Given the description of an element on the screen output the (x, y) to click on. 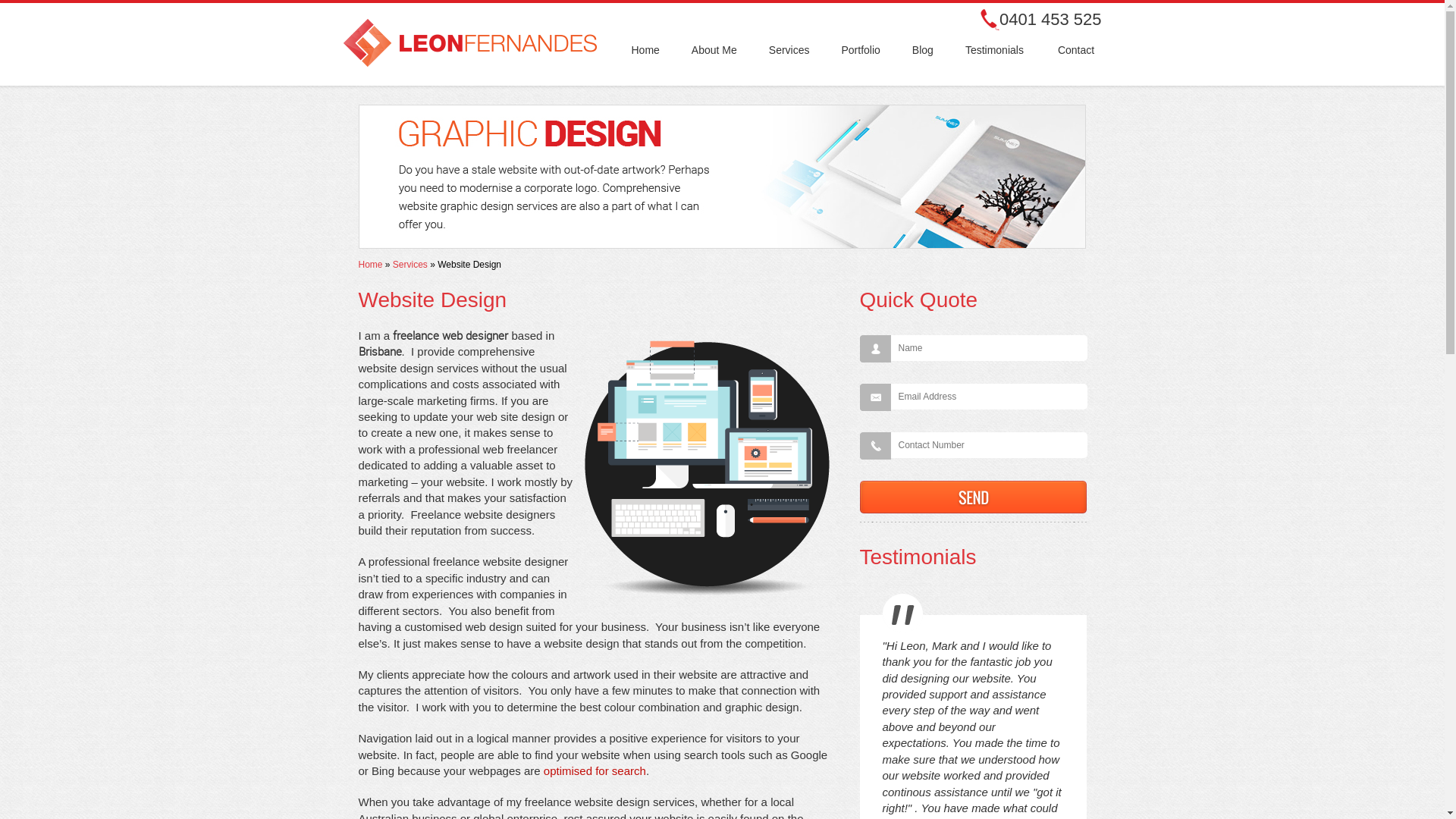
Home Element type: text (644, 49)
Home Element type: text (369, 264)
Contact Element type: text (1075, 49)
Testimonials Element type: text (994, 49)
About Me Element type: text (714, 49)
Send Element type: text (972, 496)
optimised for search Element type: text (594, 770)
Services Element type: text (788, 49)
Blog Element type: text (922, 49)
Services Element type: text (409, 264)
Portfolio Element type: text (859, 49)
0401 453 525 Element type: text (1050, 18)
